Given the description of an element on the screen output the (x, y) to click on. 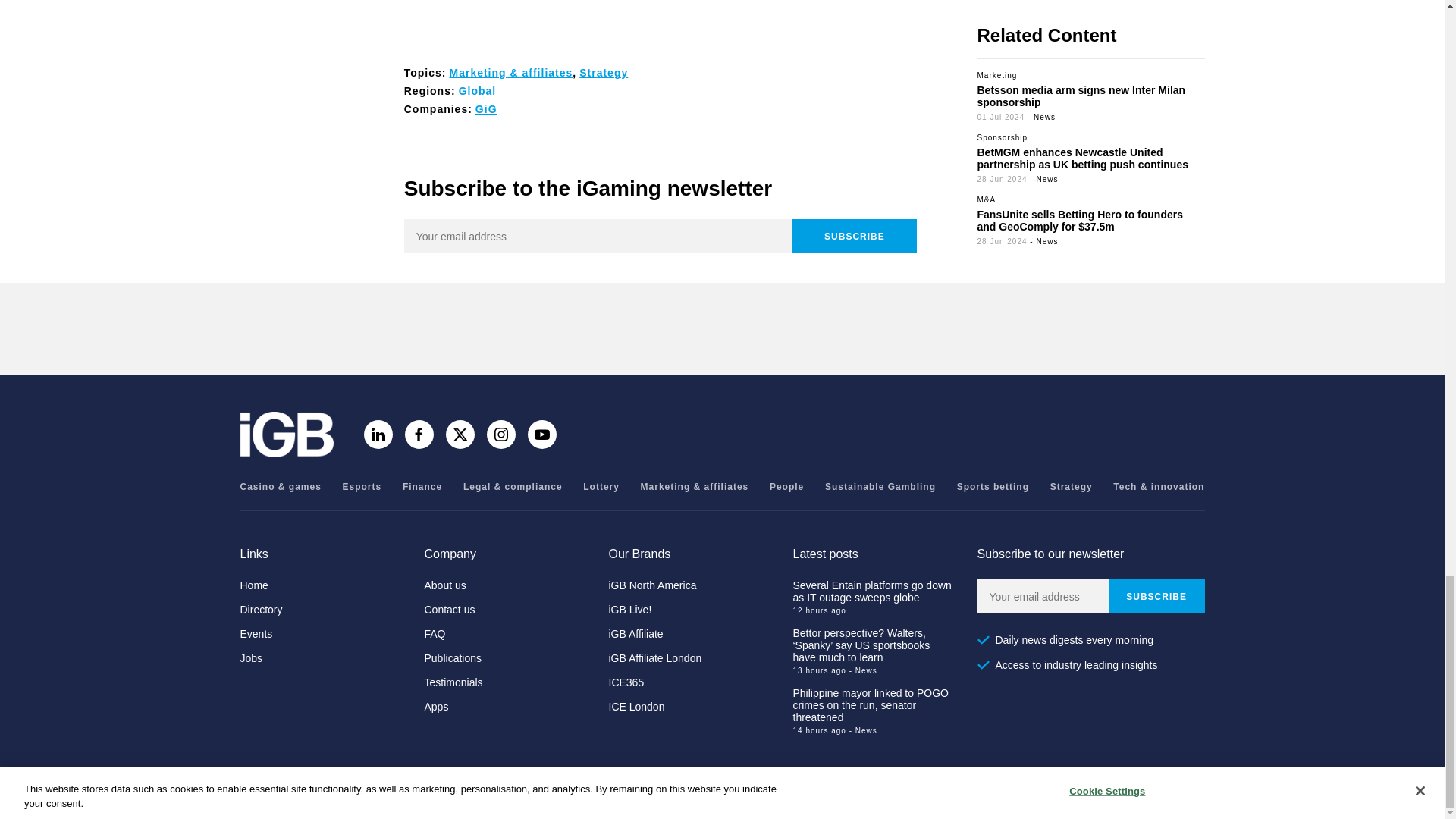
Subscribe (853, 235)
3rd party ad content (659, 5)
3rd party ad content (721, 328)
Subscribe (1156, 595)
